Given the description of an element on the screen output the (x, y) to click on. 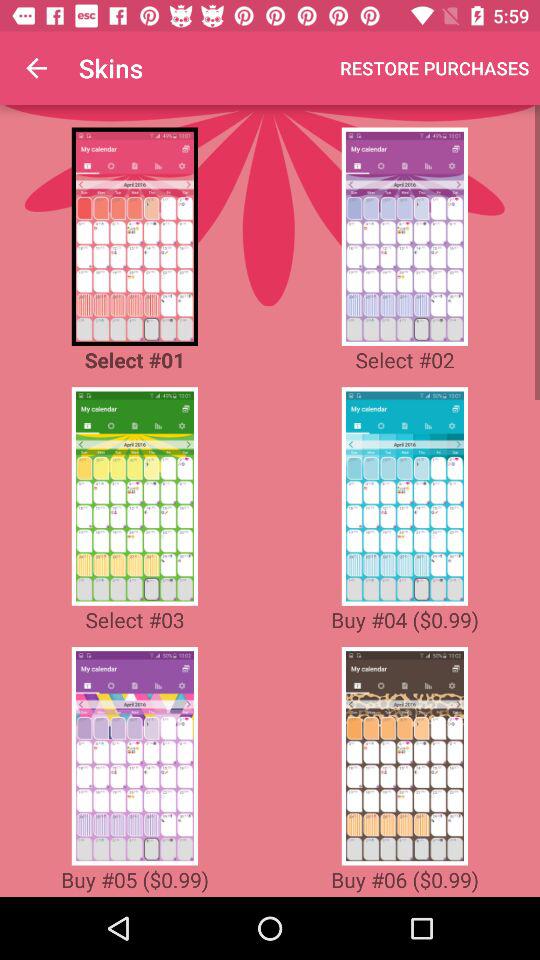
select 04 skin (404, 496)
